Given the description of an element on the screen output the (x, y) to click on. 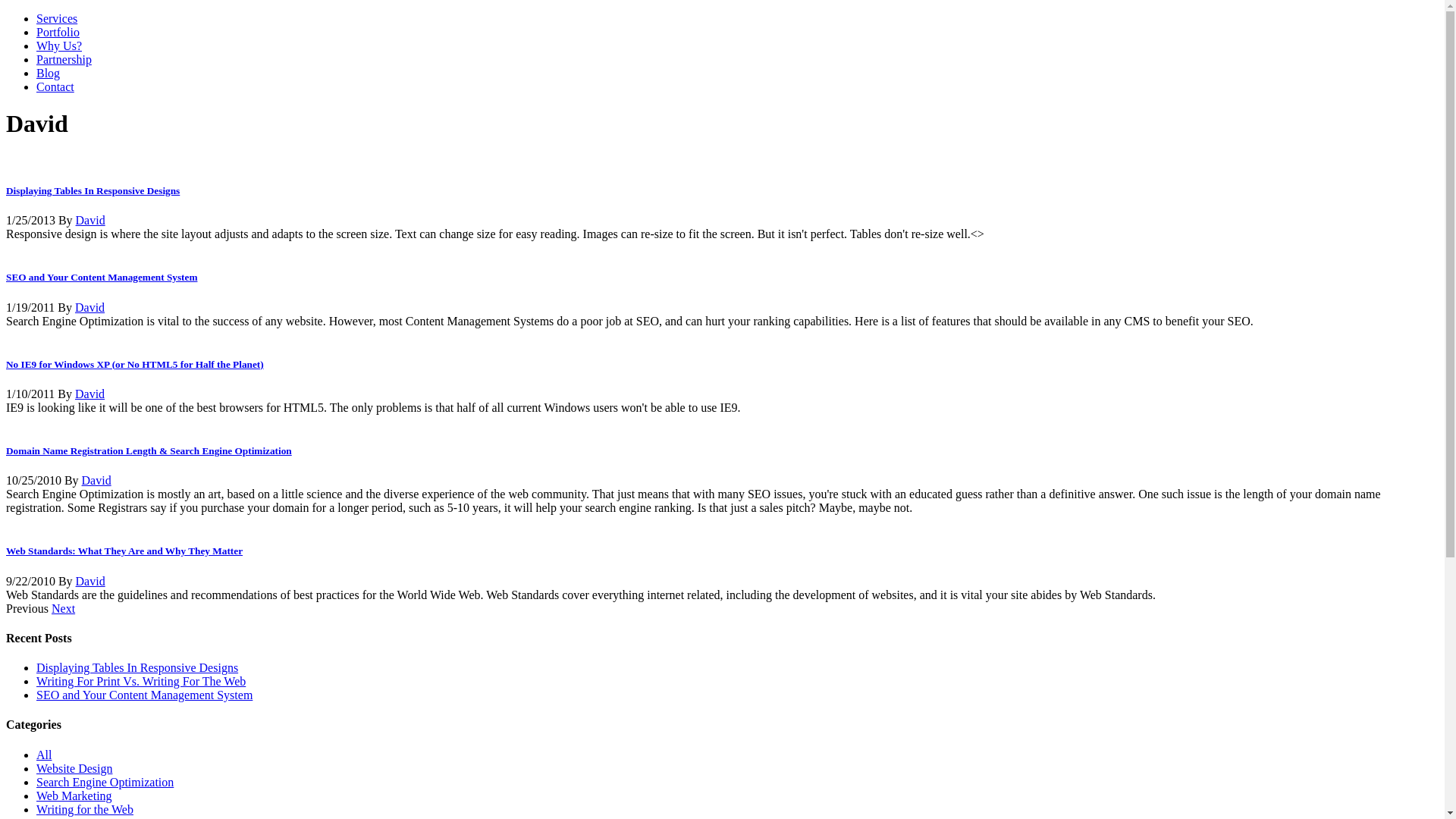
Web Standards: What They Are and Why They Matter Element type: text (124, 550)
Web Marketing Element type: text (74, 795)
No IE9 for Windows XP (or No HTML5 for Half the Planet) Element type: text (134, 364)
SEO and Your Content Management System Element type: text (101, 276)
Contact Element type: text (55, 86)
Portfolio Element type: text (57, 31)
David Element type: text (89, 393)
Blog Element type: text (47, 72)
Partnership Element type: text (63, 59)
All Element type: text (43, 754)
Why Us? Element type: text (58, 45)
Writing for the Web Element type: text (84, 809)
Website Design Element type: text (74, 768)
Next Element type: text (63, 608)
Domain Name Registration Length & Search Engine Optimization Element type: text (148, 450)
Writing For Print Vs. Writing For The Web Element type: text (140, 680)
David Element type: text (96, 479)
Services Element type: text (56, 18)
Search Engine Optimization Element type: text (104, 781)
David Element type: text (90, 219)
SEO and Your Content Management System Element type: text (144, 694)
Displaying Tables In Responsive Designs Element type: text (92, 190)
Displaying Tables In Responsive Designs Element type: text (137, 667)
David Element type: text (89, 307)
David Element type: text (90, 580)
Previous Element type: text (27, 608)
